Given the description of an element on the screen output the (x, y) to click on. 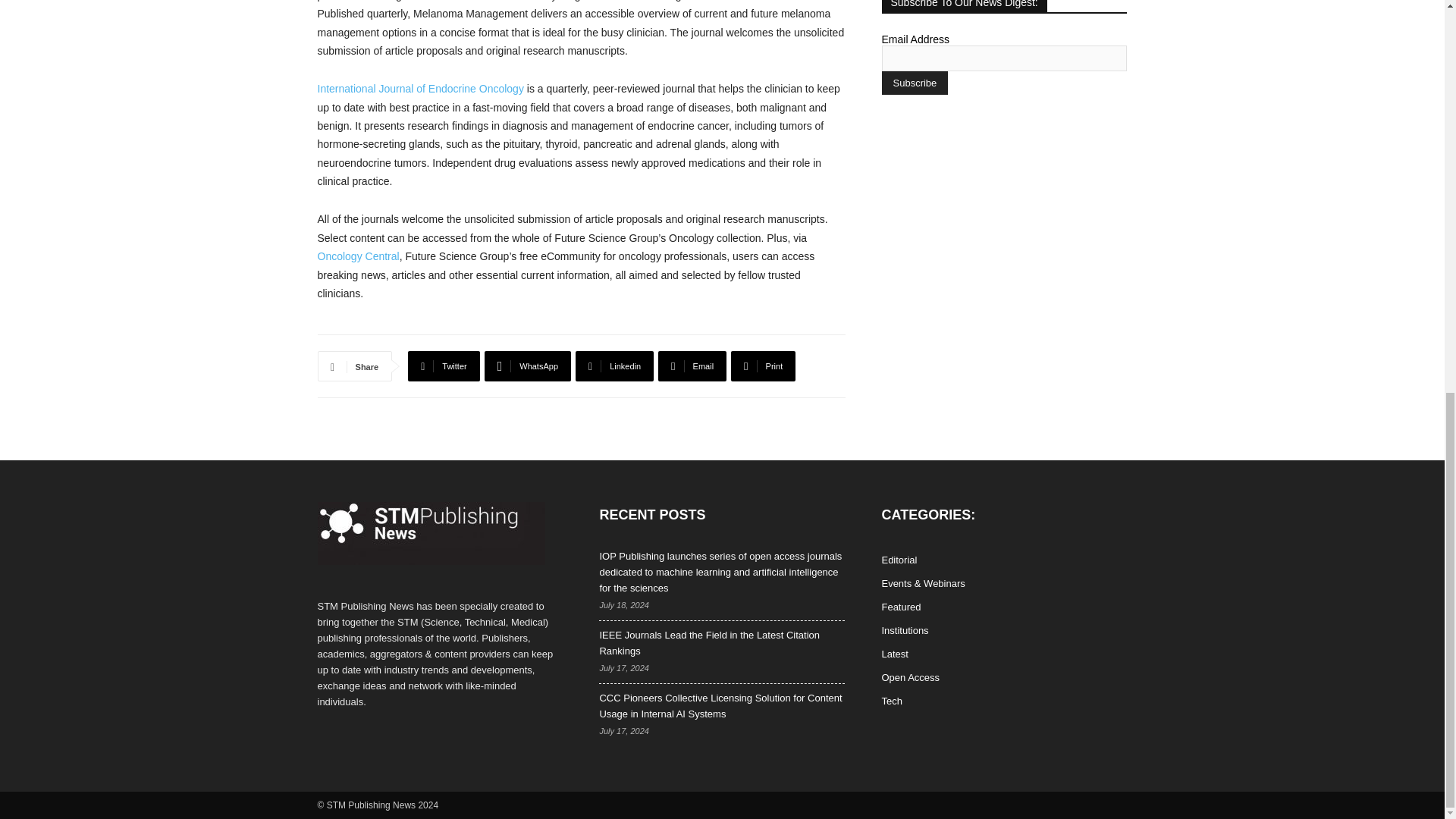
Subscribe (913, 83)
